Given the description of an element on the screen output the (x, y) to click on. 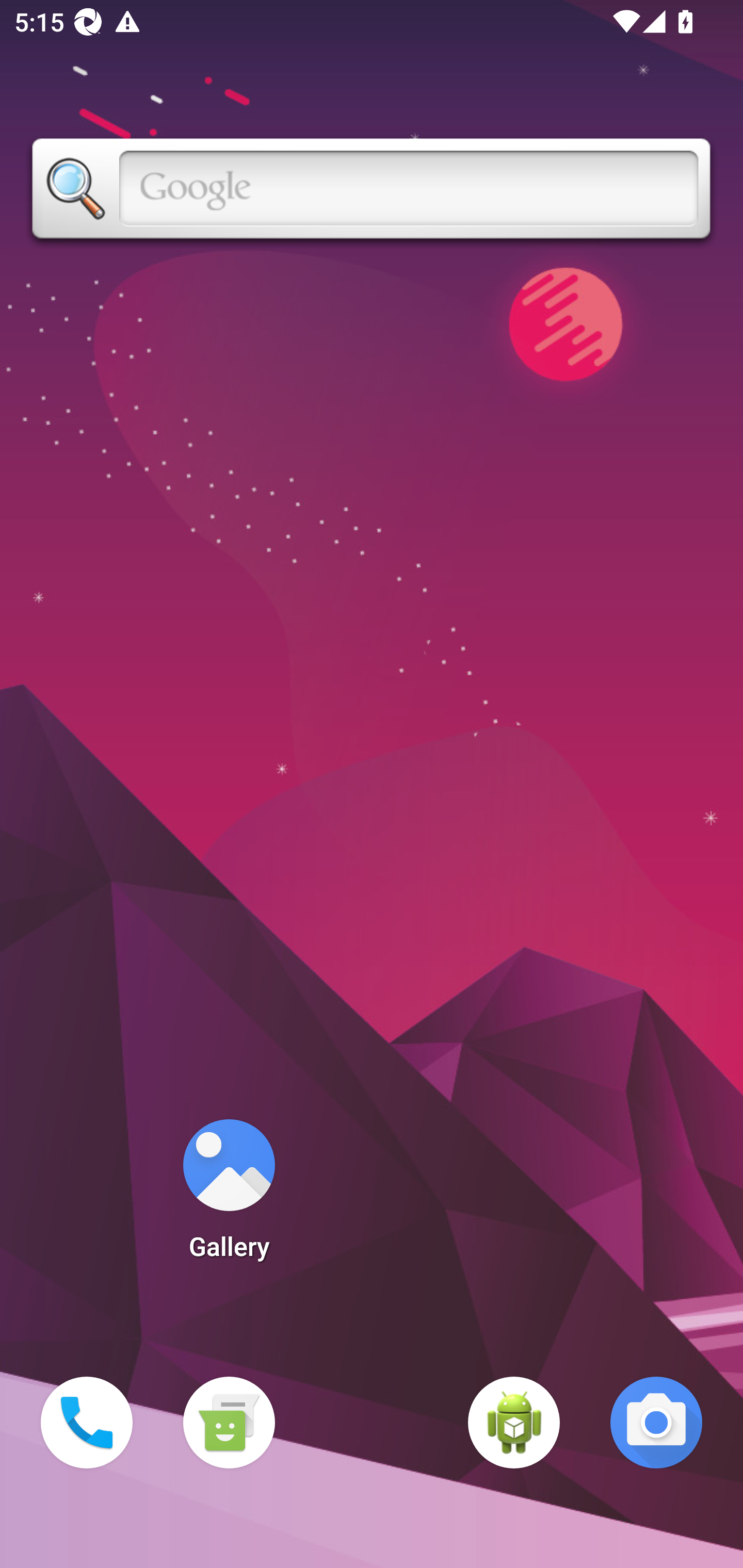
Gallery (228, 1195)
Phone (86, 1422)
Messaging (228, 1422)
WebView Browser Tester (513, 1422)
Camera (656, 1422)
